Given the description of an element on the screen output the (x, y) to click on. 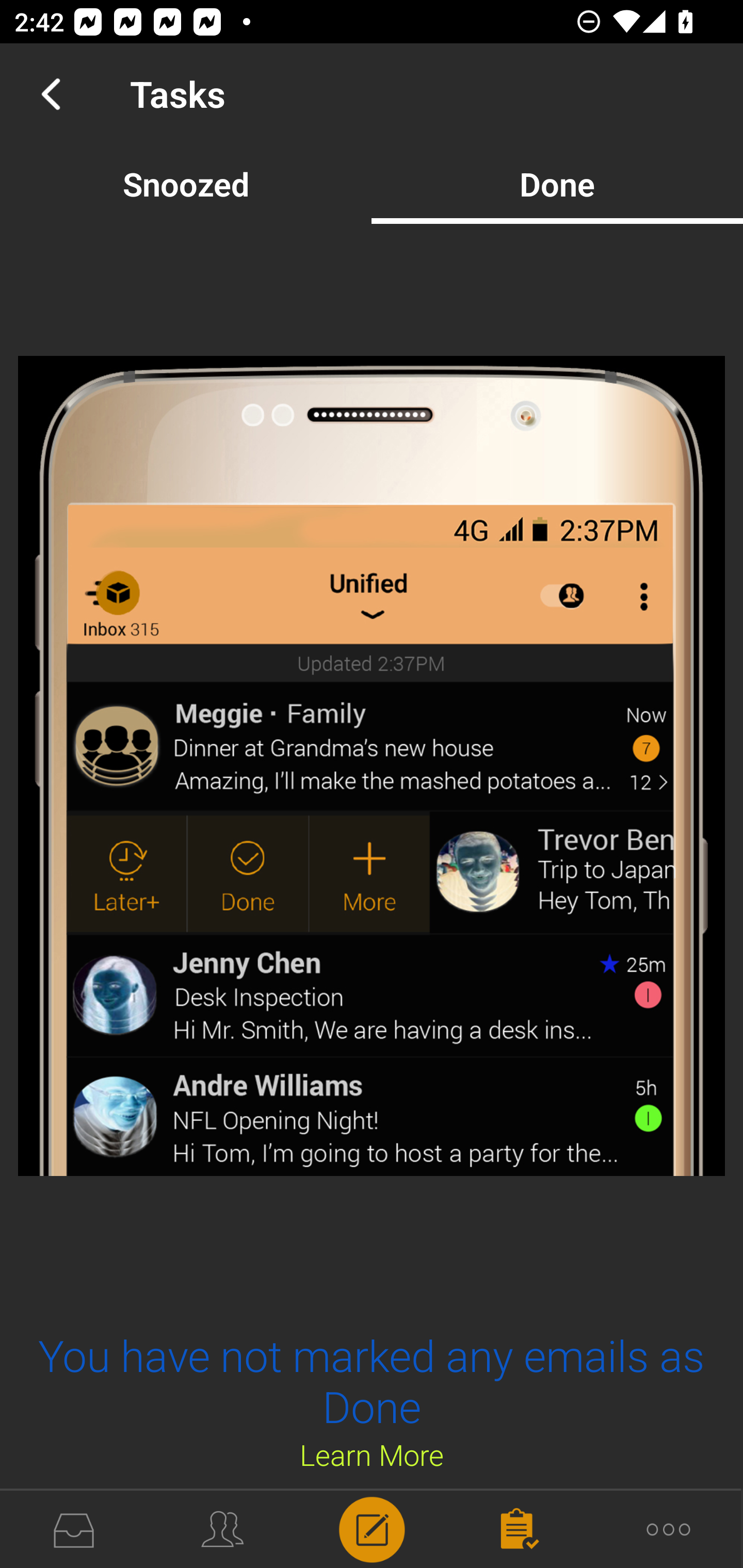
Navigate up (50, 93)
Snoozed (185, 184)
Done (557, 184)
Learn More (371, 1453)
